Given the description of an element on the screen output the (x, y) to click on. 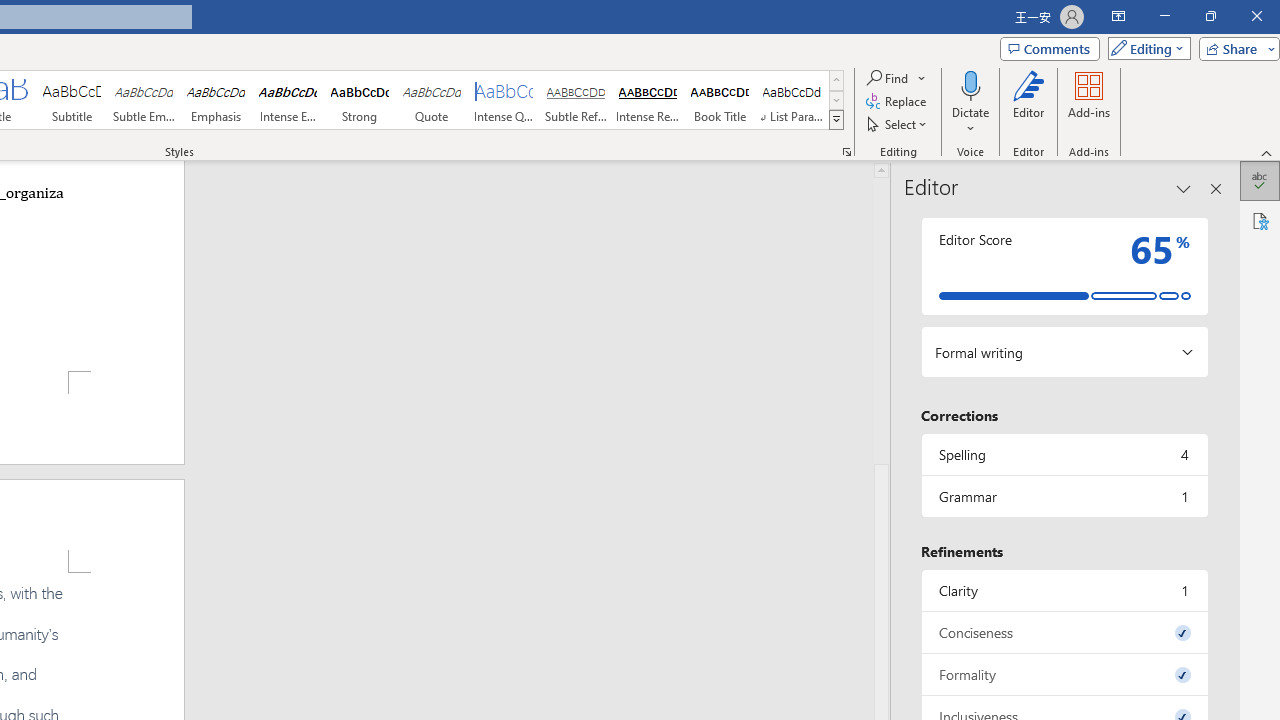
Grammar, 1 issue. Press space or enter to review items. (1064, 495)
Row Down (836, 100)
Find (896, 78)
Ribbon Display Options (1118, 16)
Conciseness, 0 issues. Press space or enter to review items. (1064, 632)
Subtle Emphasis (143, 100)
Spelling, 4 issues. Press space or enter to review items. (1064, 454)
Dictate (970, 84)
Editor (1260, 180)
Comments (1049, 48)
Collapse the Ribbon (1267, 152)
Minimize (1164, 16)
Styles (836, 120)
